Given the description of an element on the screen output the (x, y) to click on. 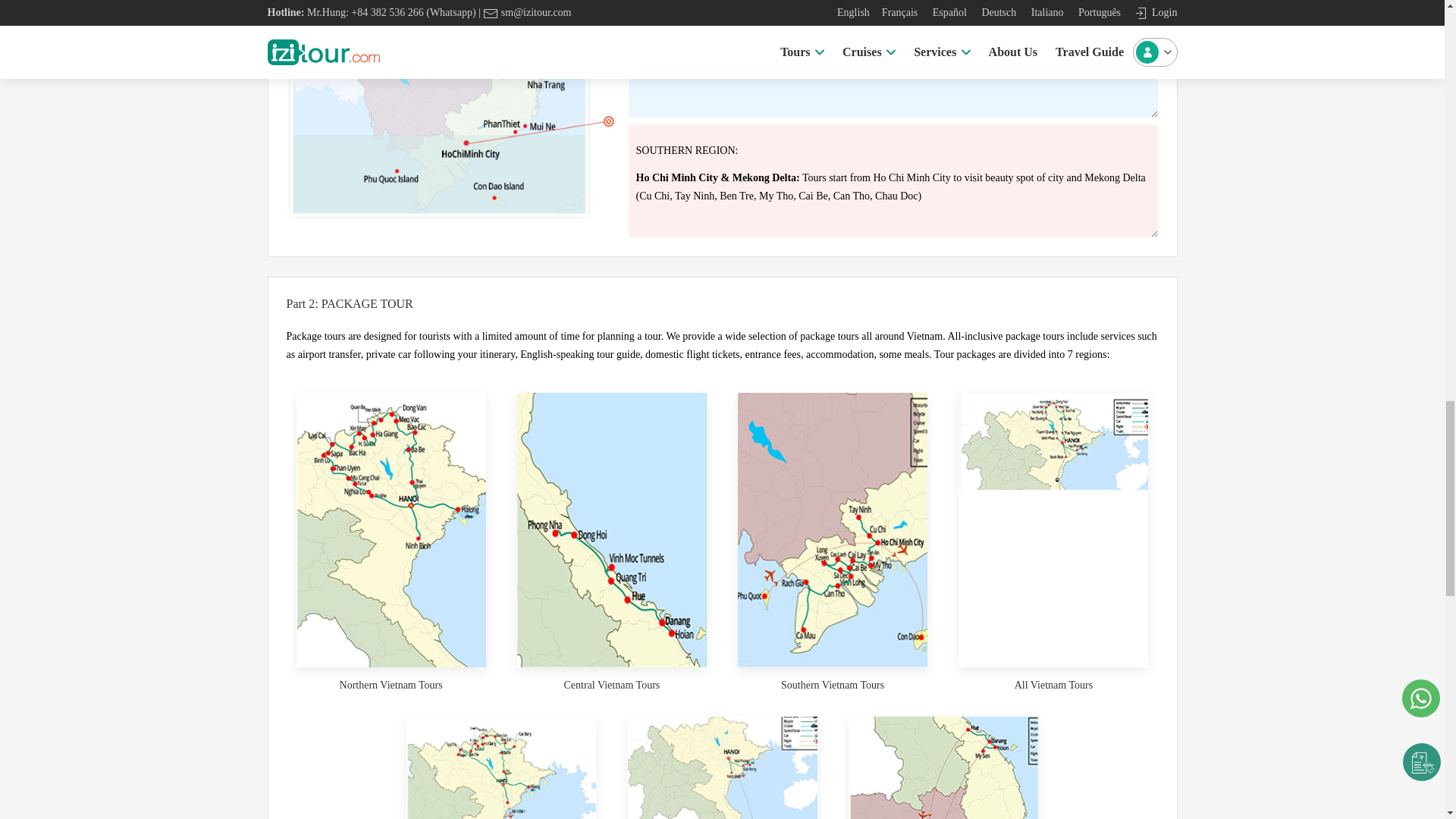
Southern Vietnam Tours (831, 685)
Central Vietnam Tours (611, 685)
Northern Vietnam Tours (390, 685)
All Vietnam Tours (1053, 685)
